Given the description of an element on the screen output the (x, y) to click on. 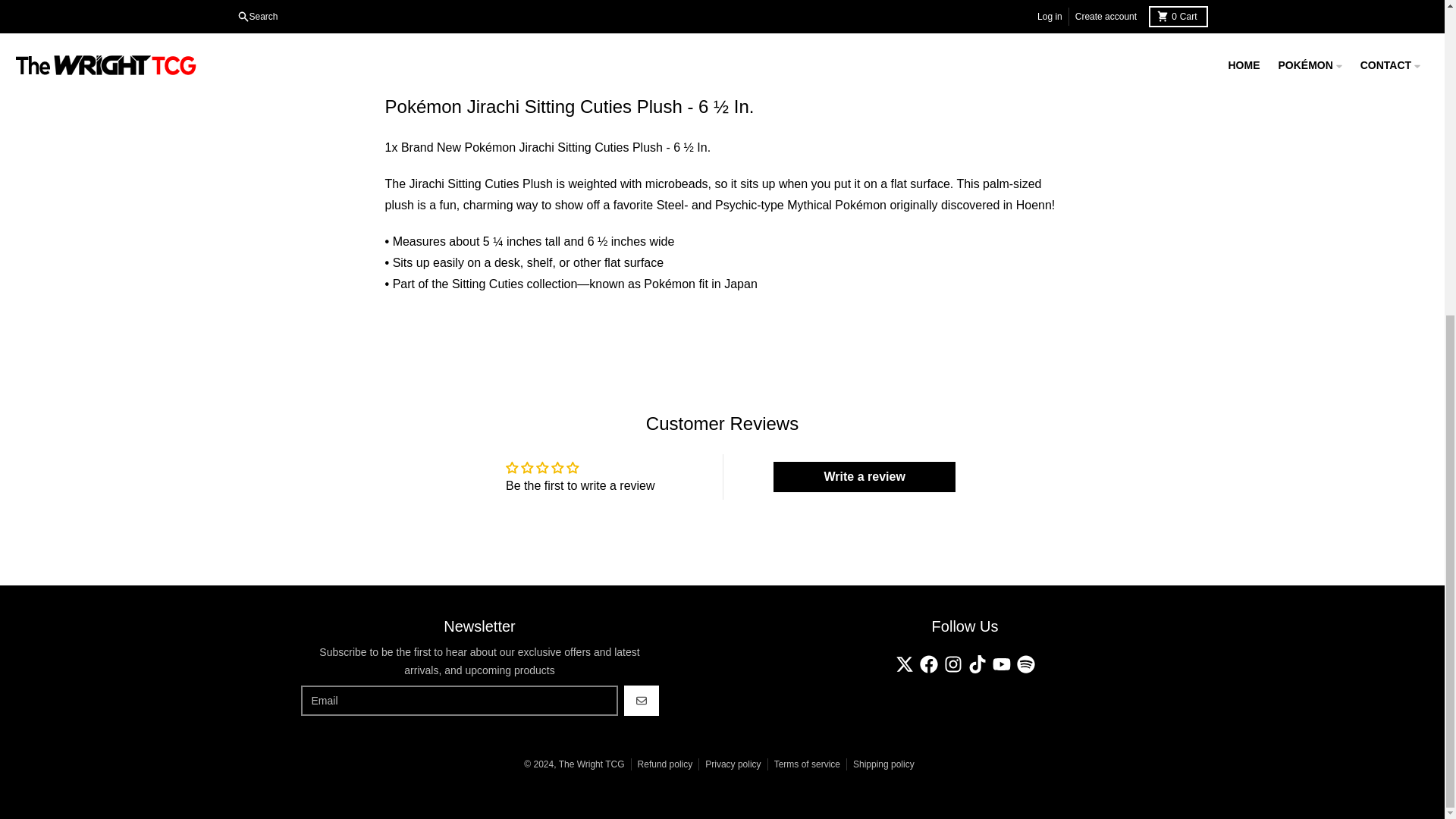
YouTube - The Wright TCG (1000, 664)
Twitter - The Wright TCG (903, 664)
Spotify - The Wright TCG (1024, 664)
Facebook - The Wright TCG (927, 664)
TikTok - The Wright TCG (976, 664)
Instagram - The Wright TCG (951, 664)
